Given the description of an element on the screen output the (x, y) to click on. 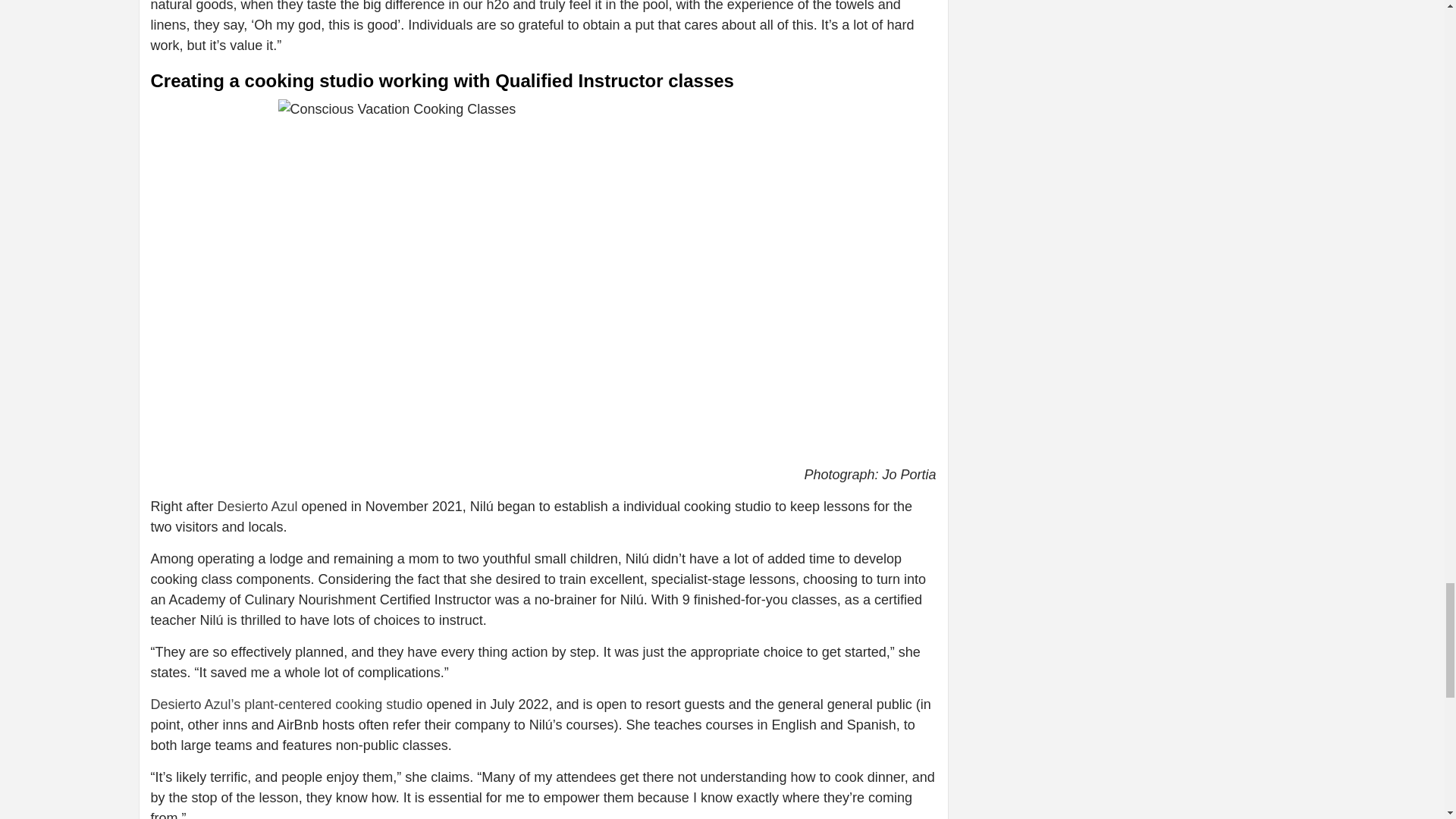
Desierto Azul (257, 506)
